Given the description of an element on the screen output the (x, y) to click on. 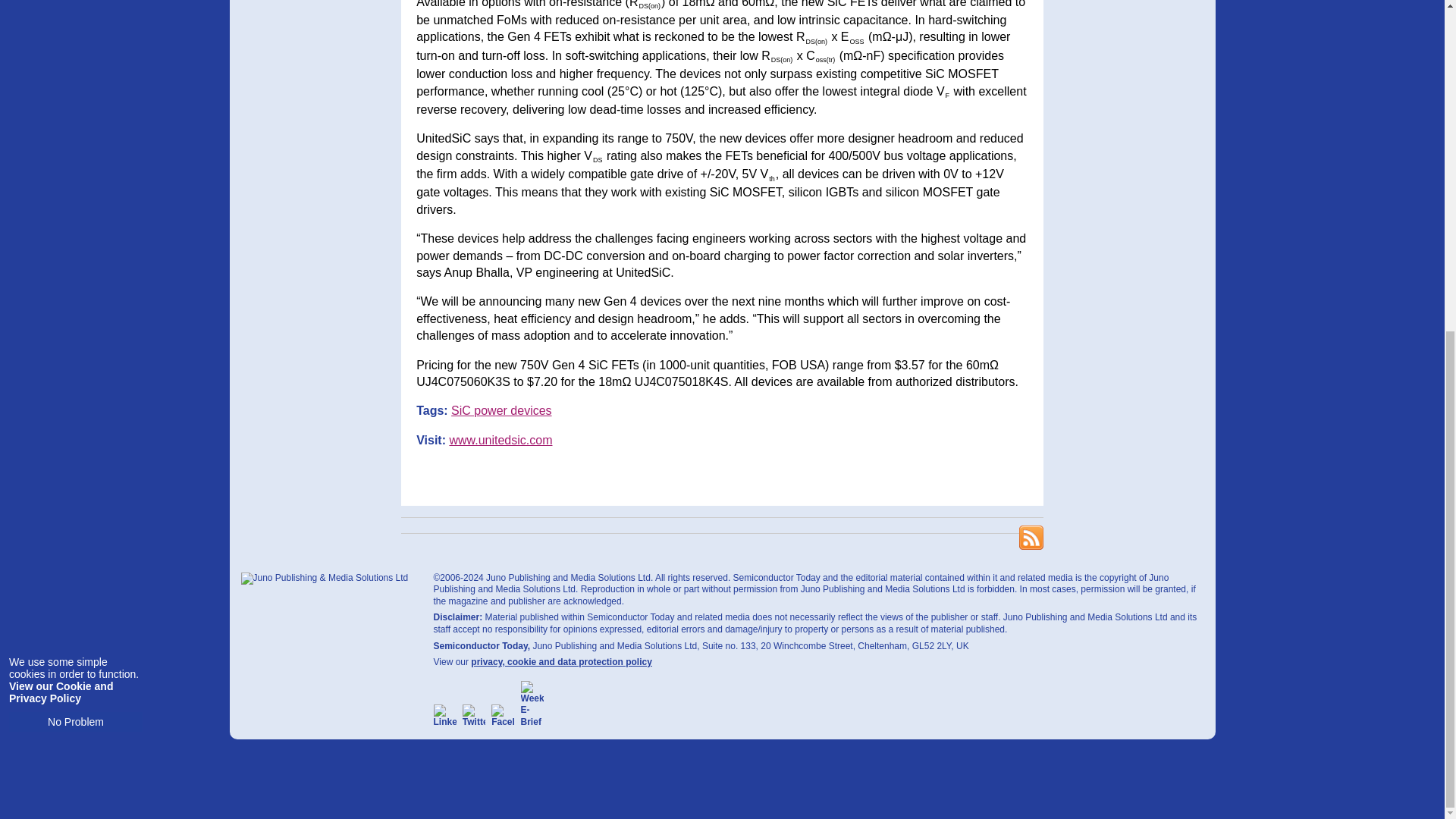
View our Cookie and Privacy Policy (60, 142)
